Given the description of an element on the screen output the (x, y) to click on. 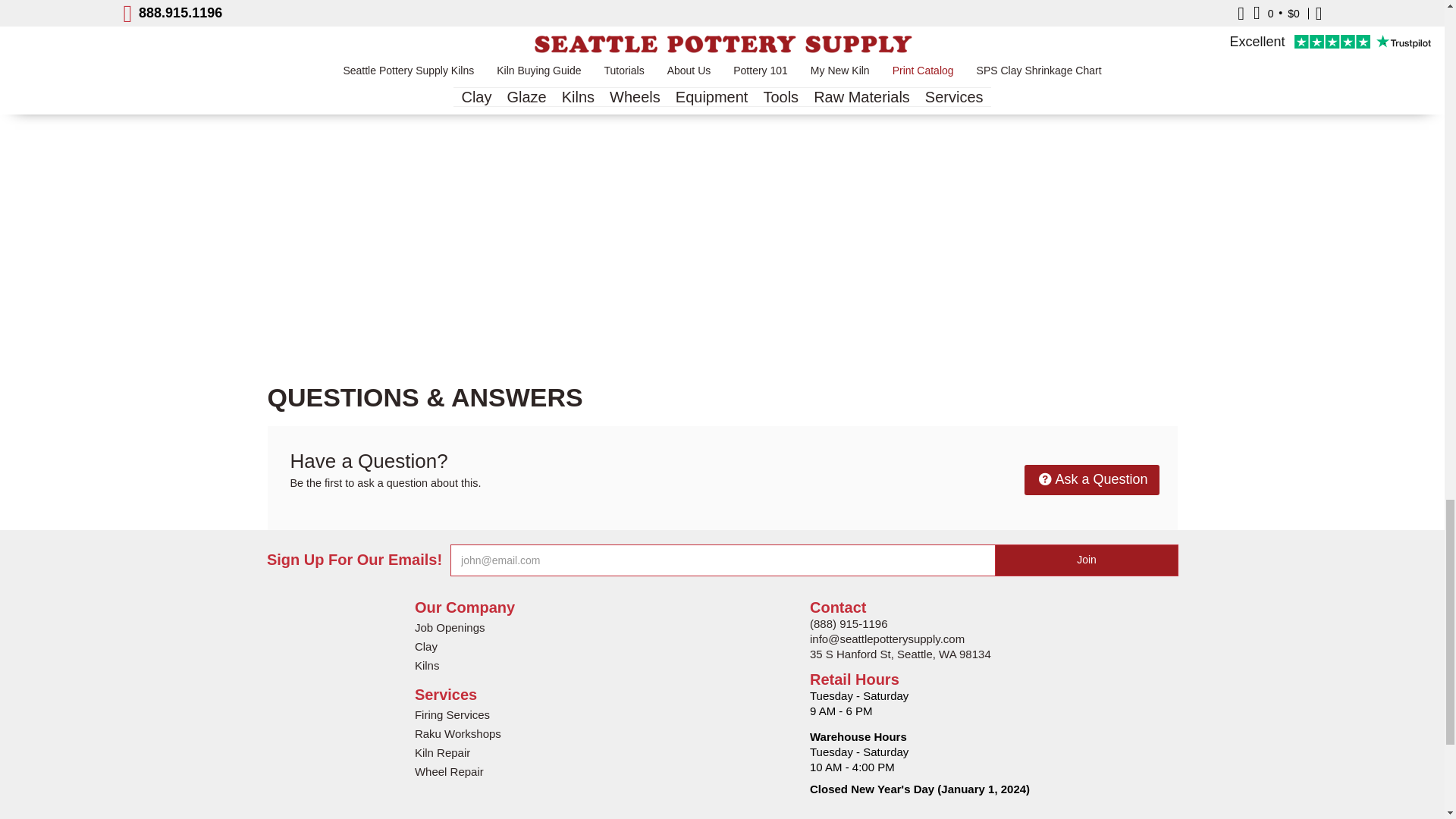
Join (1086, 560)
